Given the description of an element on the screen output the (x, y) to click on. 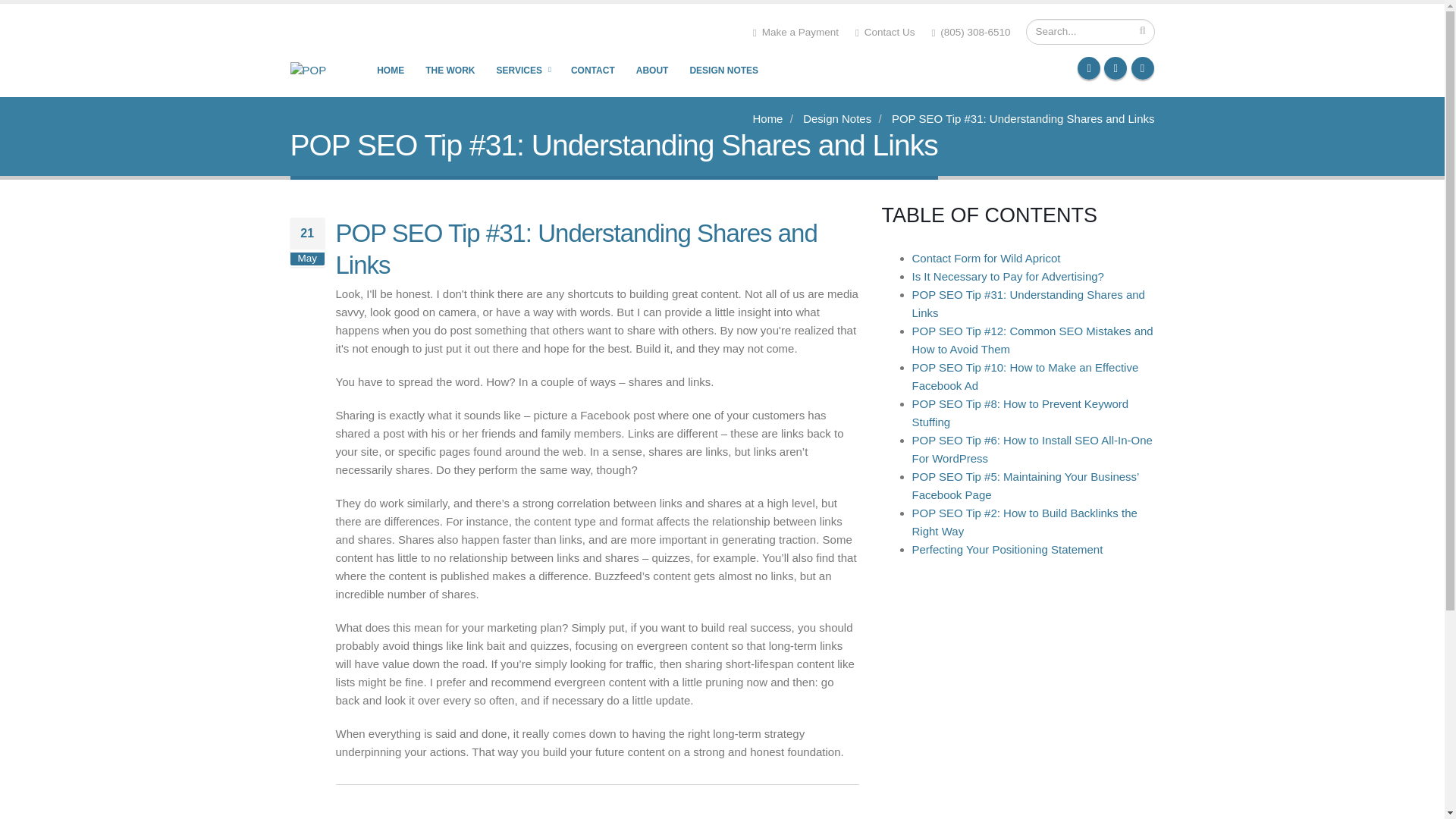
Contact Form for Wild Apricot (985, 257)
DESIGN NOTES (723, 69)
Linkedin (1142, 67)
Twitter (1114, 67)
Perfecting Your Positioning Statement (1006, 549)
Design Notes (836, 118)
Facebook (1088, 67)
HOME (389, 69)
SERVICES (522, 69)
Contact Us (884, 31)
THE WORK (449, 69)
CONTACT (592, 69)
Home (767, 118)
Make a Payment (795, 31)
Is It Necessary to Pay for Advertising? (1007, 276)
